Given the description of an element on the screen output the (x, y) to click on. 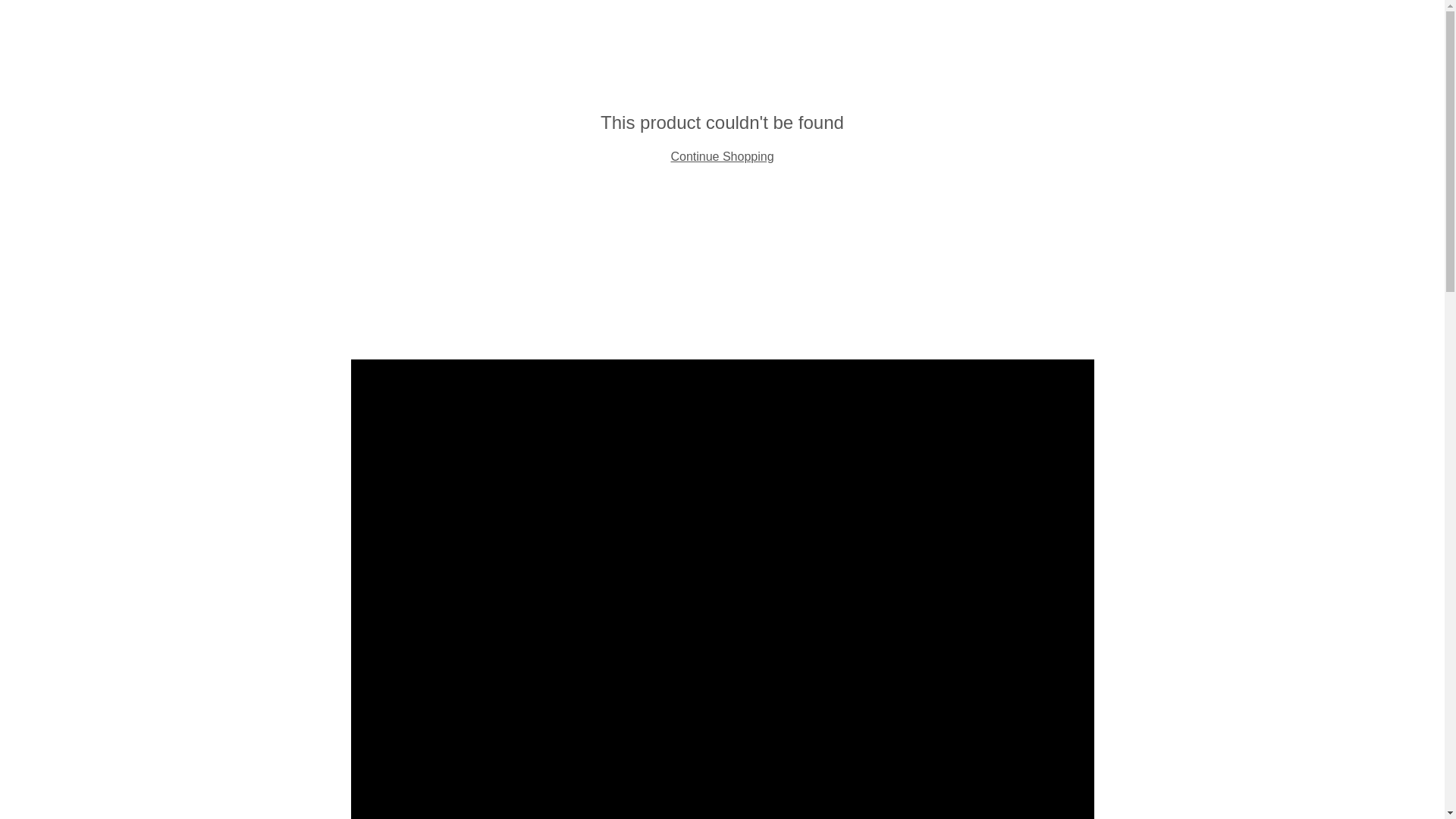
Continue Shopping (721, 155)
